Given the description of an element on the screen output the (x, y) to click on. 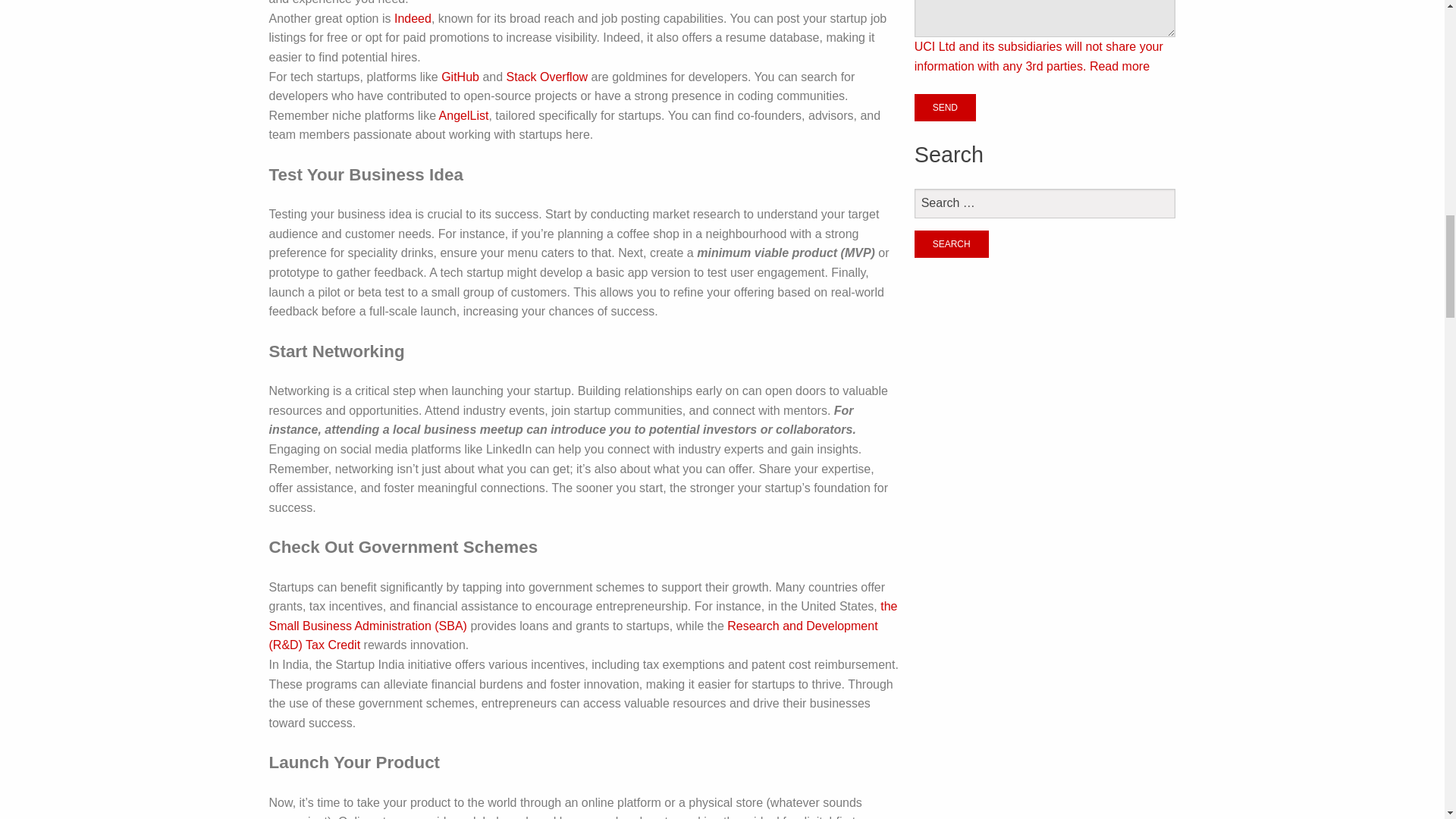
Search (951, 243)
Send (944, 107)
Search (951, 243)
